Given the description of an element on the screen output the (x, y) to click on. 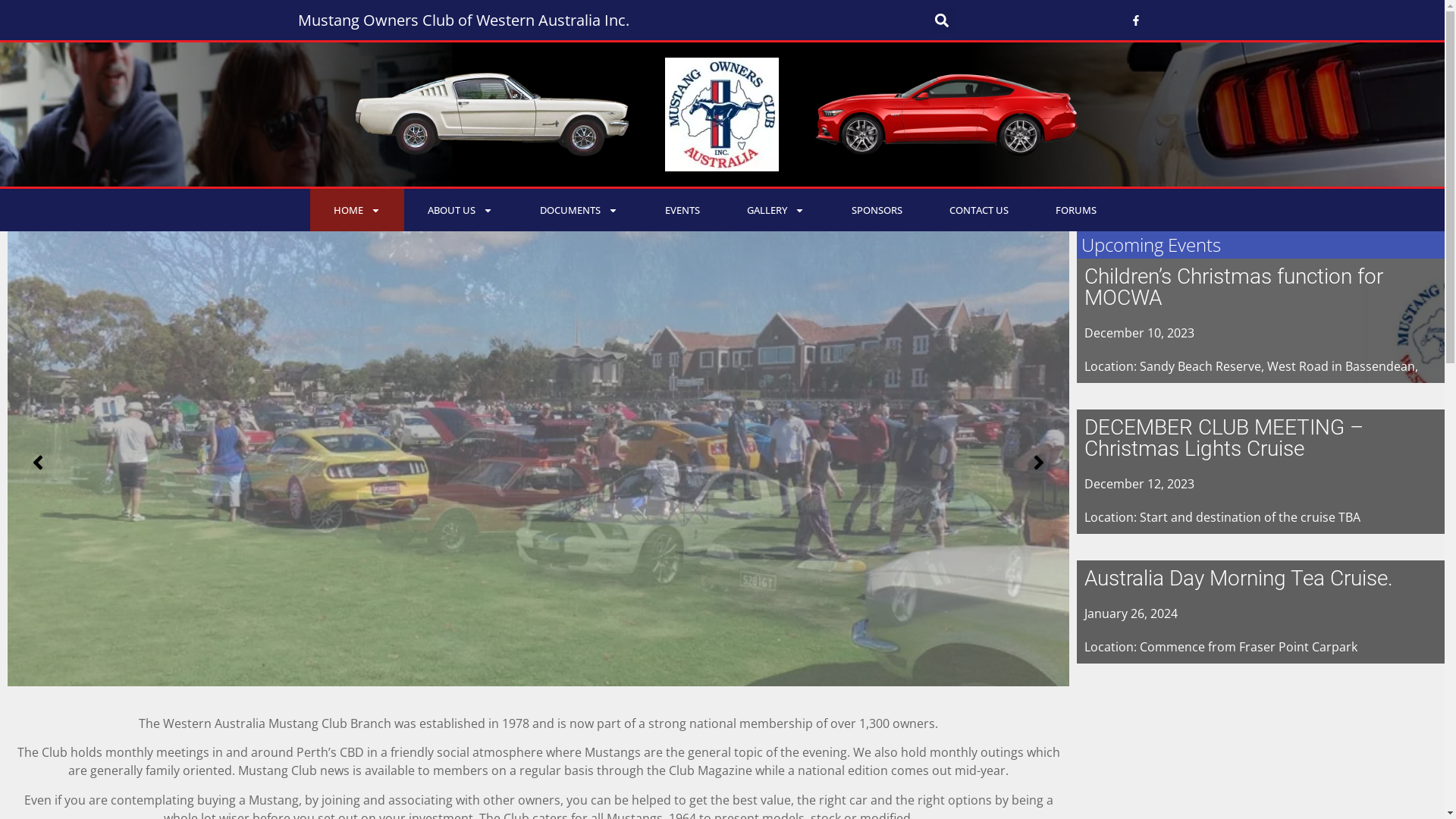
HOME Element type: text (356, 209)
EVENTS Element type: text (682, 209)
mustang_old Element type: hover (490, 114)
CONTACT US Element type: text (978, 209)
GALLERY Element type: text (775, 209)
DOCUMENTS Element type: text (577, 209)
See Photos Element type: text (538, 477)
Australia Day Morning Tea Cruise. Element type: text (1238, 577)
SPONSORS Element type: text (876, 209)
ABOUT US Element type: text (459, 209)
FORUMS Element type: text (1075, 209)
